Given the description of an element on the screen output the (x, y) to click on. 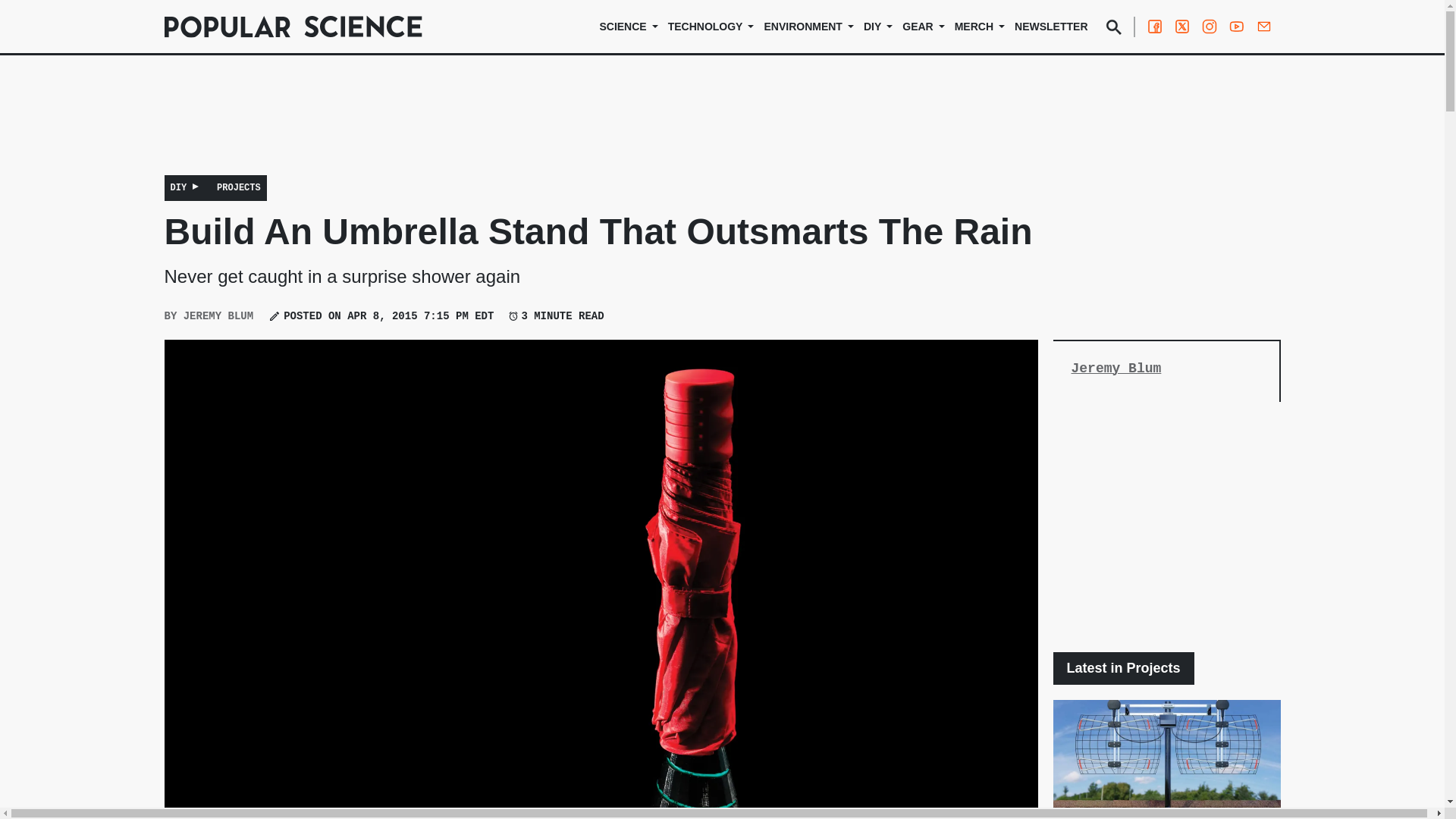
3rd party ad content (721, 125)
3rd party ad content (1165, 526)
